Given the description of an element on the screen output the (x, y) to click on. 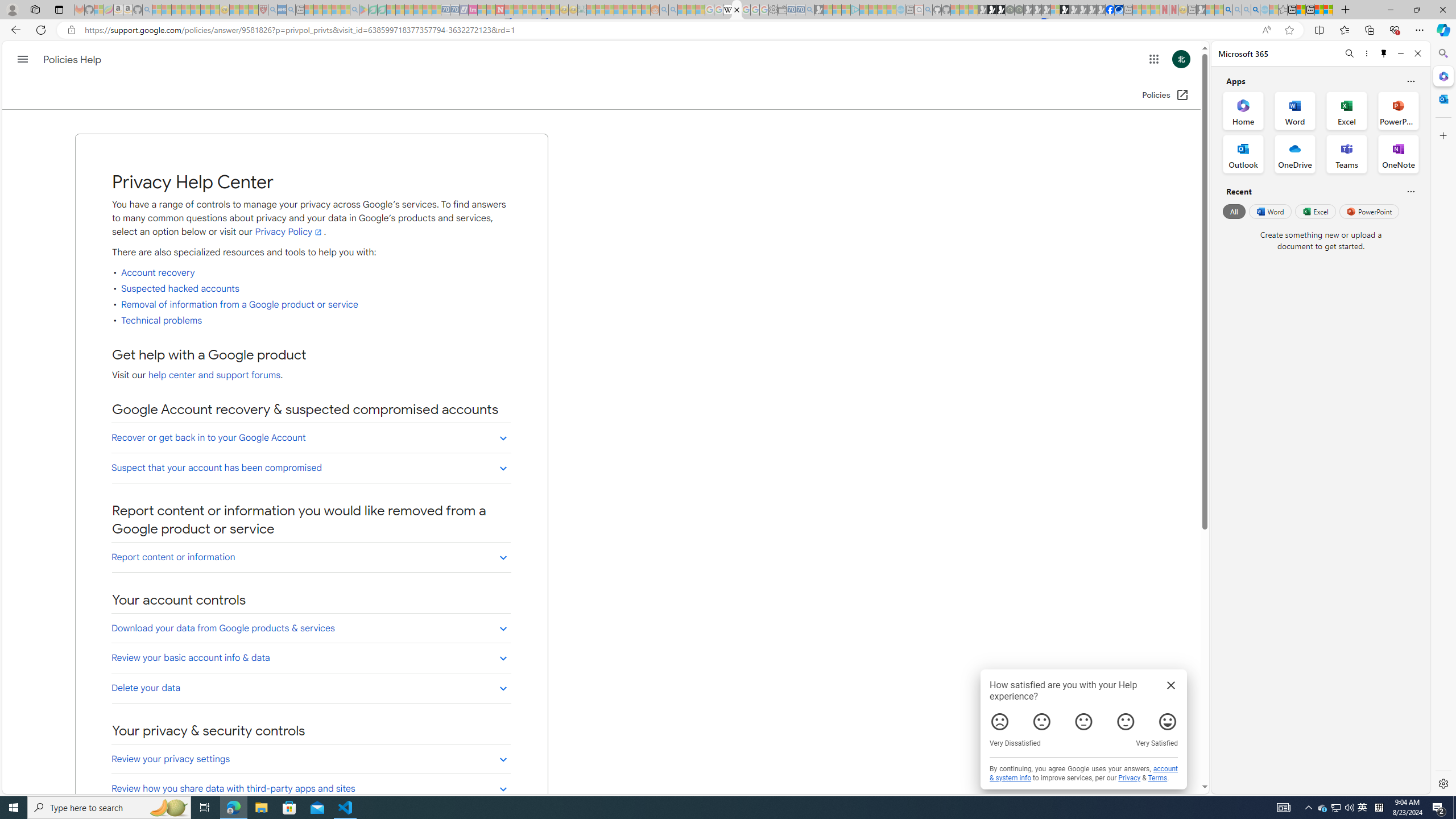
Download your data from Google products & services (311, 627)
Technical problems (161, 320)
Recover or get back in to your Google Account (311, 437)
Bing AI - Search (1227, 9)
